Given the description of an element on the screen output the (x, y) to click on. 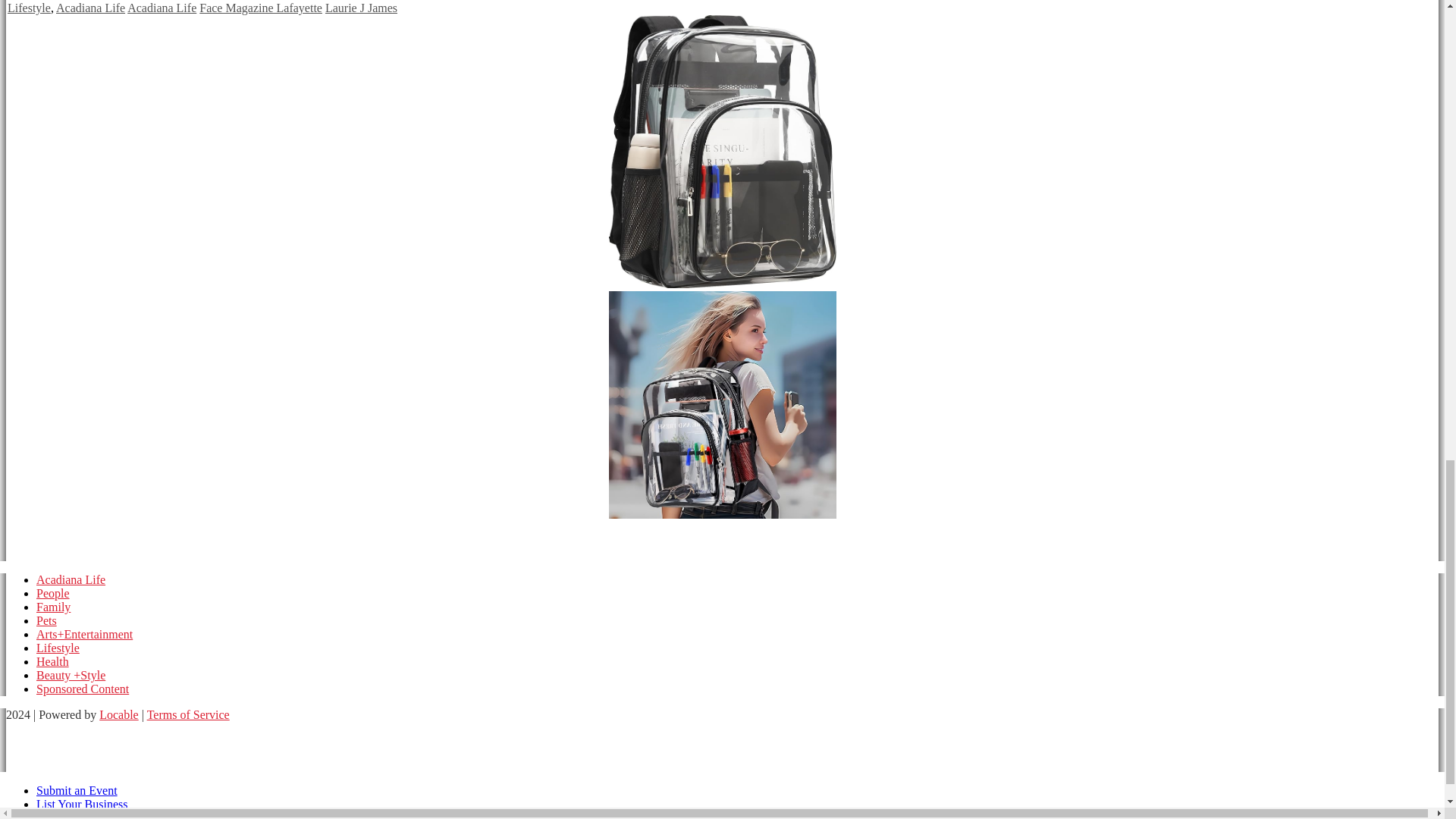
Lifestyle (28, 7)
Amazon BackPack 2 (721, 406)
Acadiana Life (162, 7)
Laurie J James (360, 7)
Face Magazine Lafayette (260, 7)
Acadiana Life (90, 7)
